Given the description of an element on the screen output the (x, y) to click on. 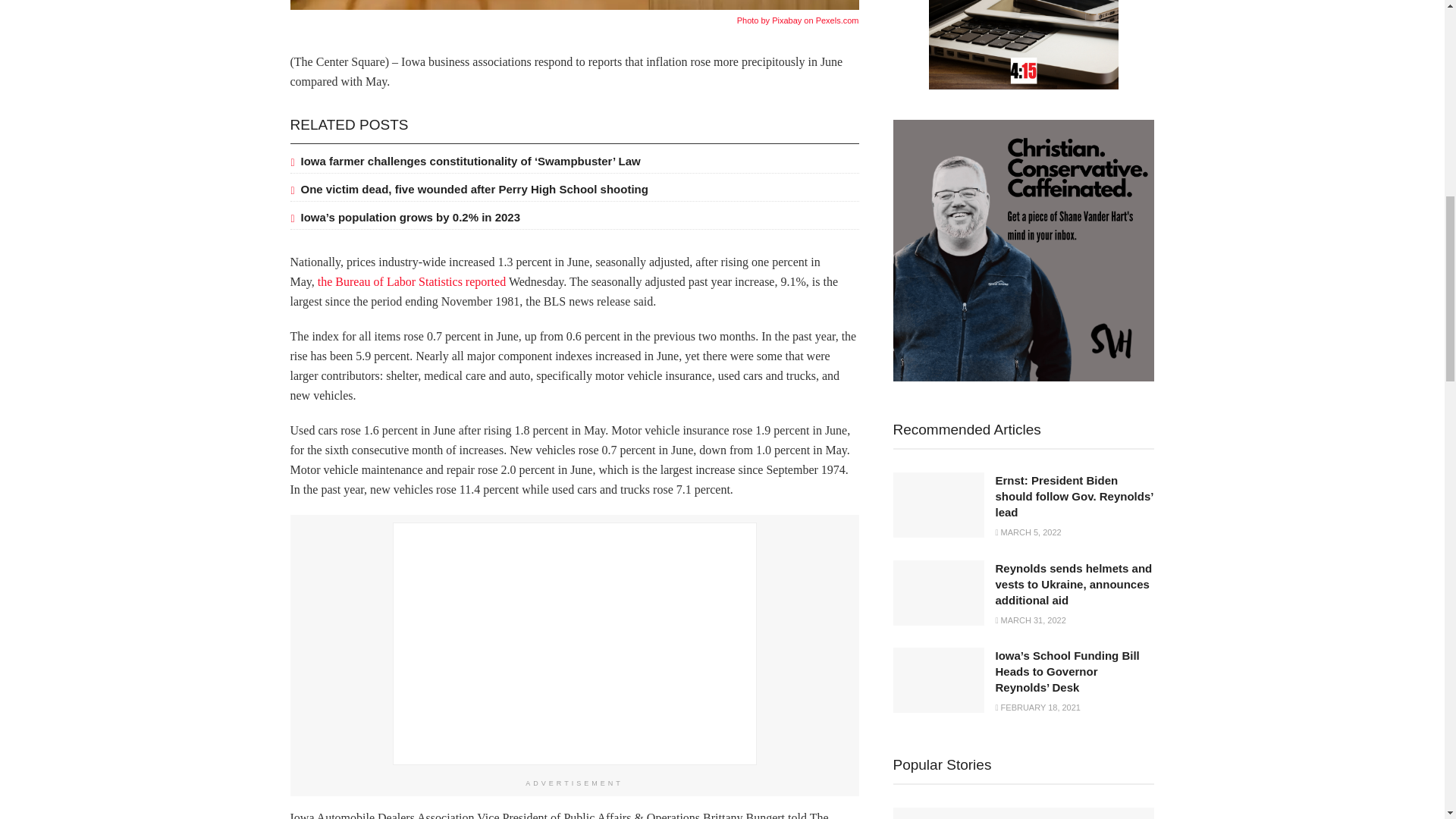
Pexels.com (837, 20)
Photo by Pixabay on (775, 20)
